Given the description of an element on the screen output the (x, y) to click on. 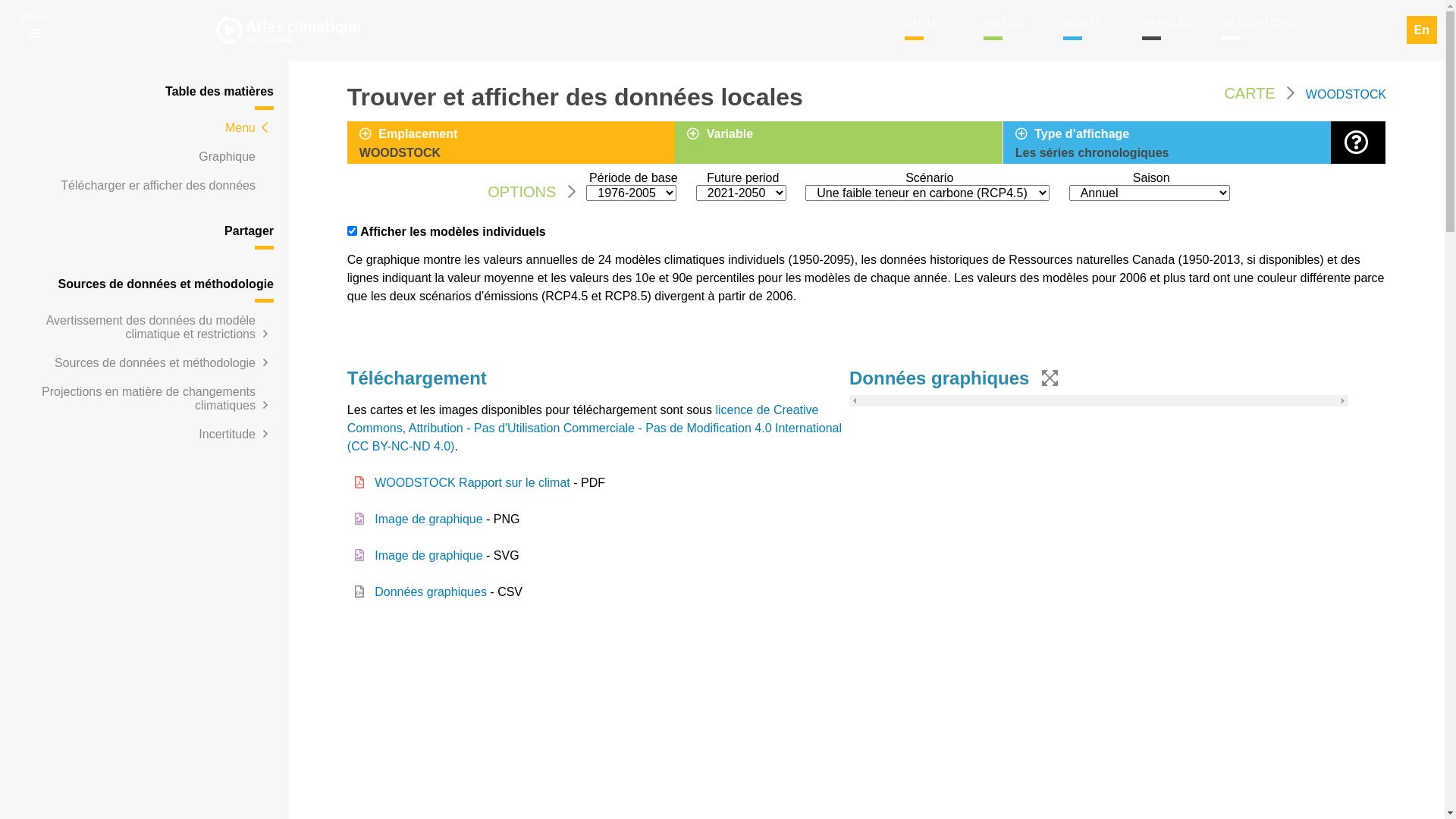
WOODSTOCK Rapport sur le climat Element type: text (472, 482)
Image de graphique Element type: text (428, 555)
ARTICLES Element type: text (1167, 22)
AUTOCHTONES Element type: text (1259, 22)
Menu Element type: text (240, 127)
Graphique Element type: text (226, 156)
Aller au contenu principal Element type: text (0, 0)
HELP Element type: hover (1358, 142)
CARTE Element type: text (921, 22)
En Element type: text (1421, 29)
Variable Element type: text (844, 136)
Incertitude Element type: text (226, 433)
Image de graphique Element type: text (428, 518)
WOODSTOCK Element type: text (1345, 93)
Emplacement
WOODSTOCK Element type: text (516, 143)
SUJETS Element type: text (1082, 22)
